Given the description of an element on the screen output the (x, y) to click on. 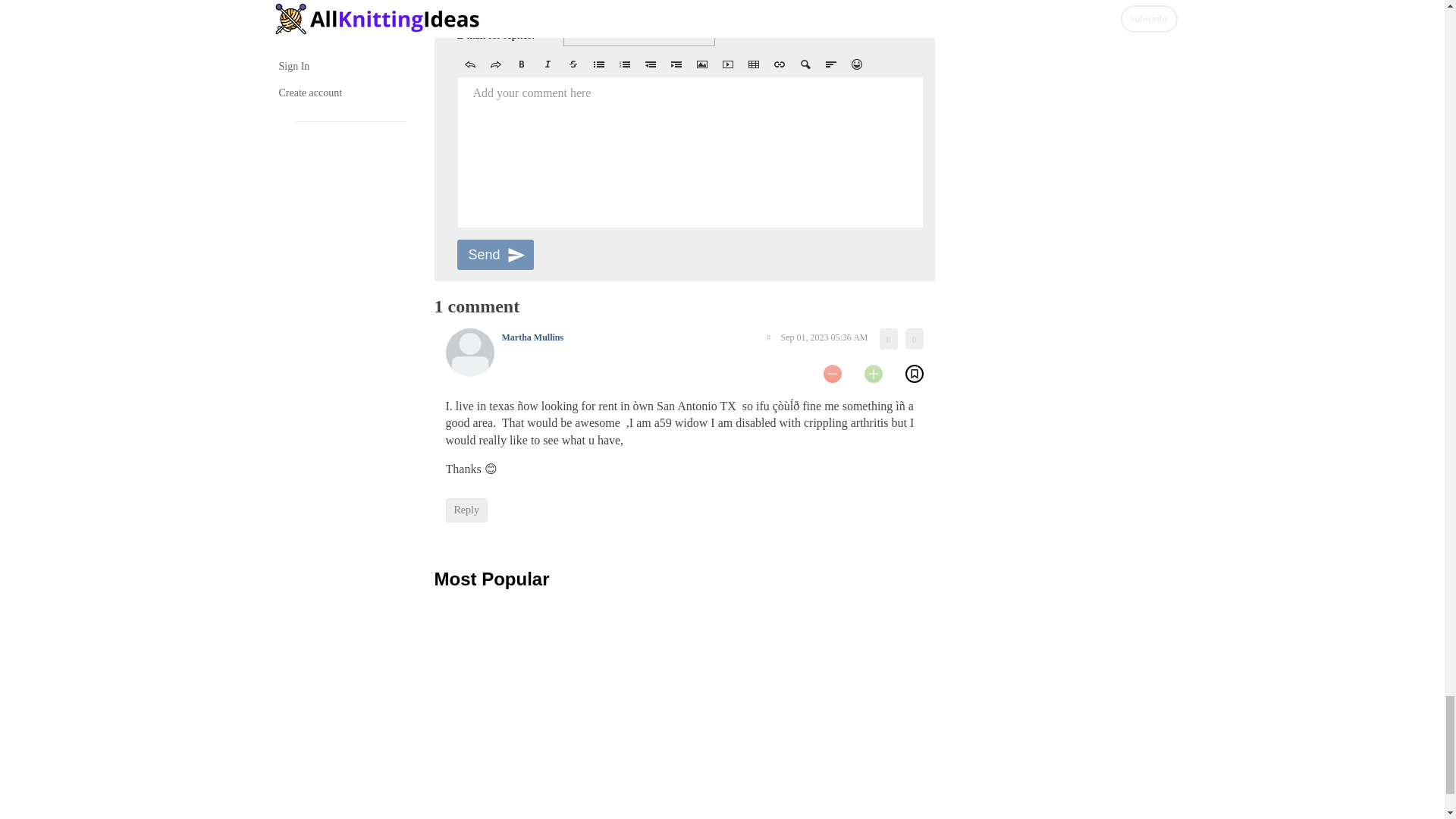
Send (494, 254)
Deleted (572, 64)
Undo (469, 64)
Italic (546, 64)
Bold (521, 64)
Redo (494, 64)
1. Ordered List (624, 64)
